Given the description of an element on the screen output the (x, y) to click on. 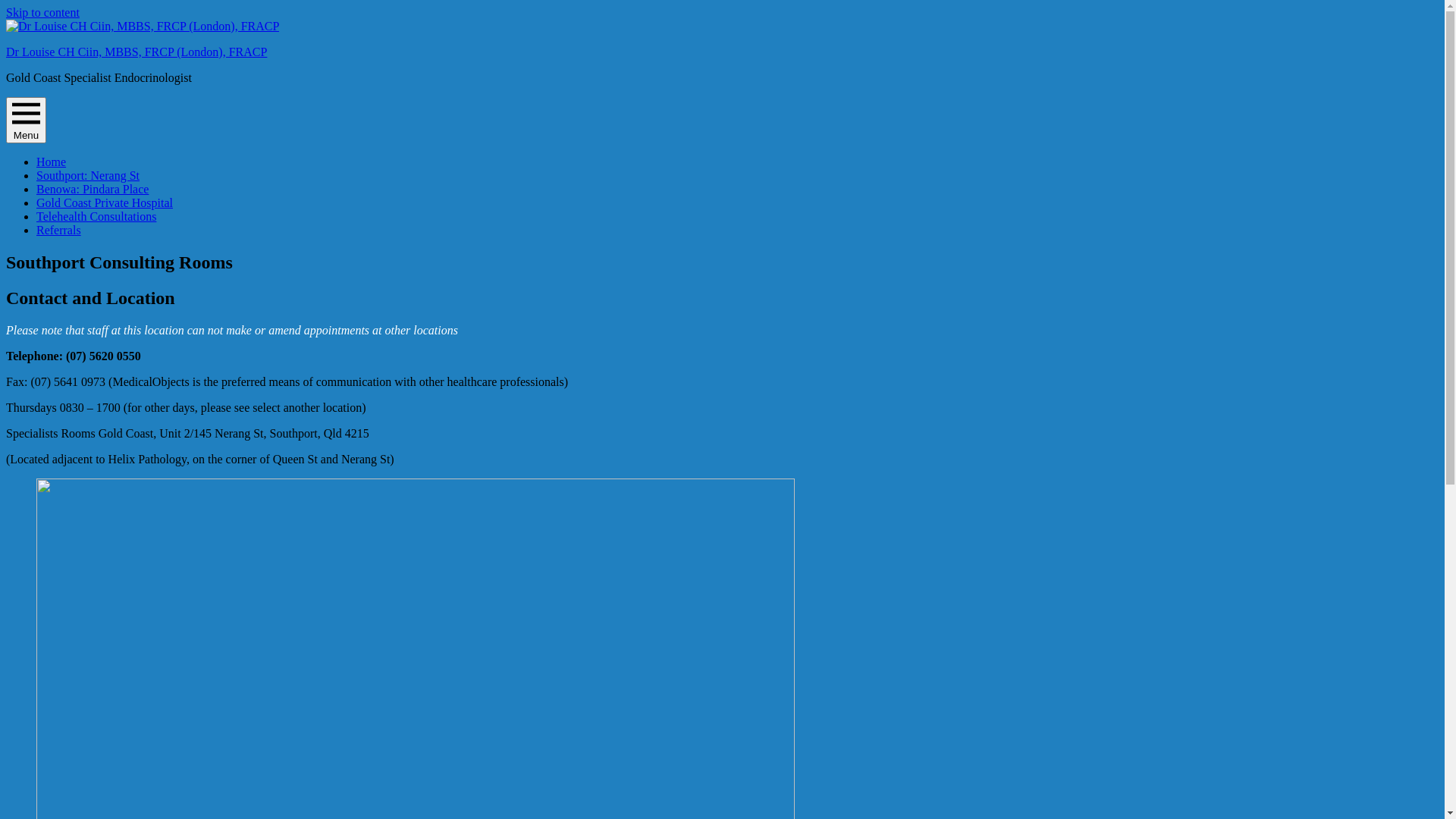
Southport: Nerang St Element type: text (87, 175)
Telehealth Consultations Element type: text (96, 216)
Skip to content Element type: text (42, 12)
Gold Coast Private Hospital Element type: text (104, 202)
Referrals Element type: text (58, 229)
Benowa: Pindara Place Element type: text (92, 188)
Home Element type: text (50, 161)
Menu Element type: text (26, 120)
Dr Louise CH Ciin, MBBS, FRCP (London), FRACP Element type: text (136, 51)
